Given the description of an element on the screen output the (x, y) to click on. 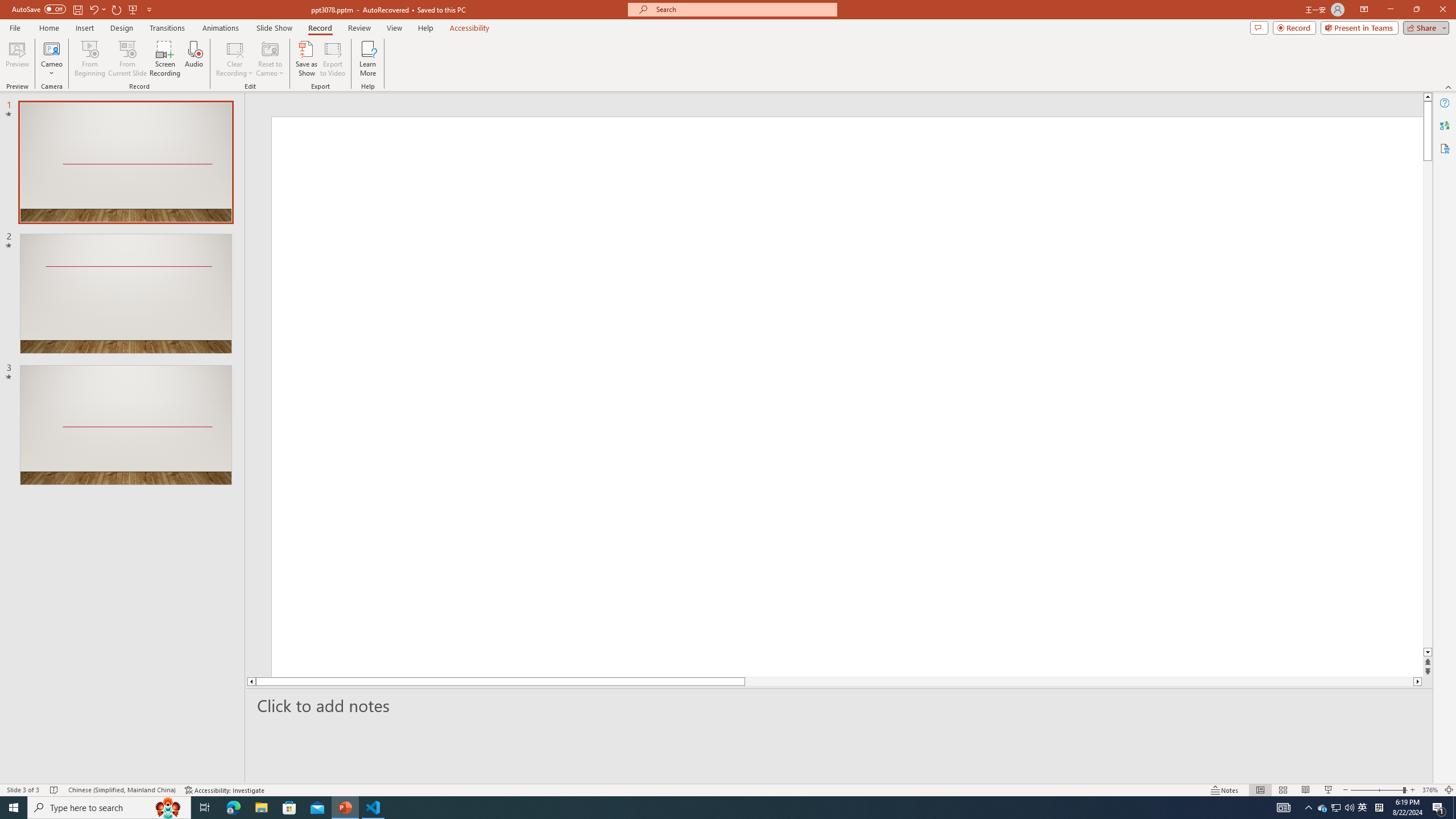
Clear Recording (234, 58)
Accessibility (1444, 147)
Zoom 376% (1430, 790)
Page down (1427, 406)
Line down (1427, 652)
Cameo (51, 58)
